Given the description of an element on the screen output the (x, y) to click on. 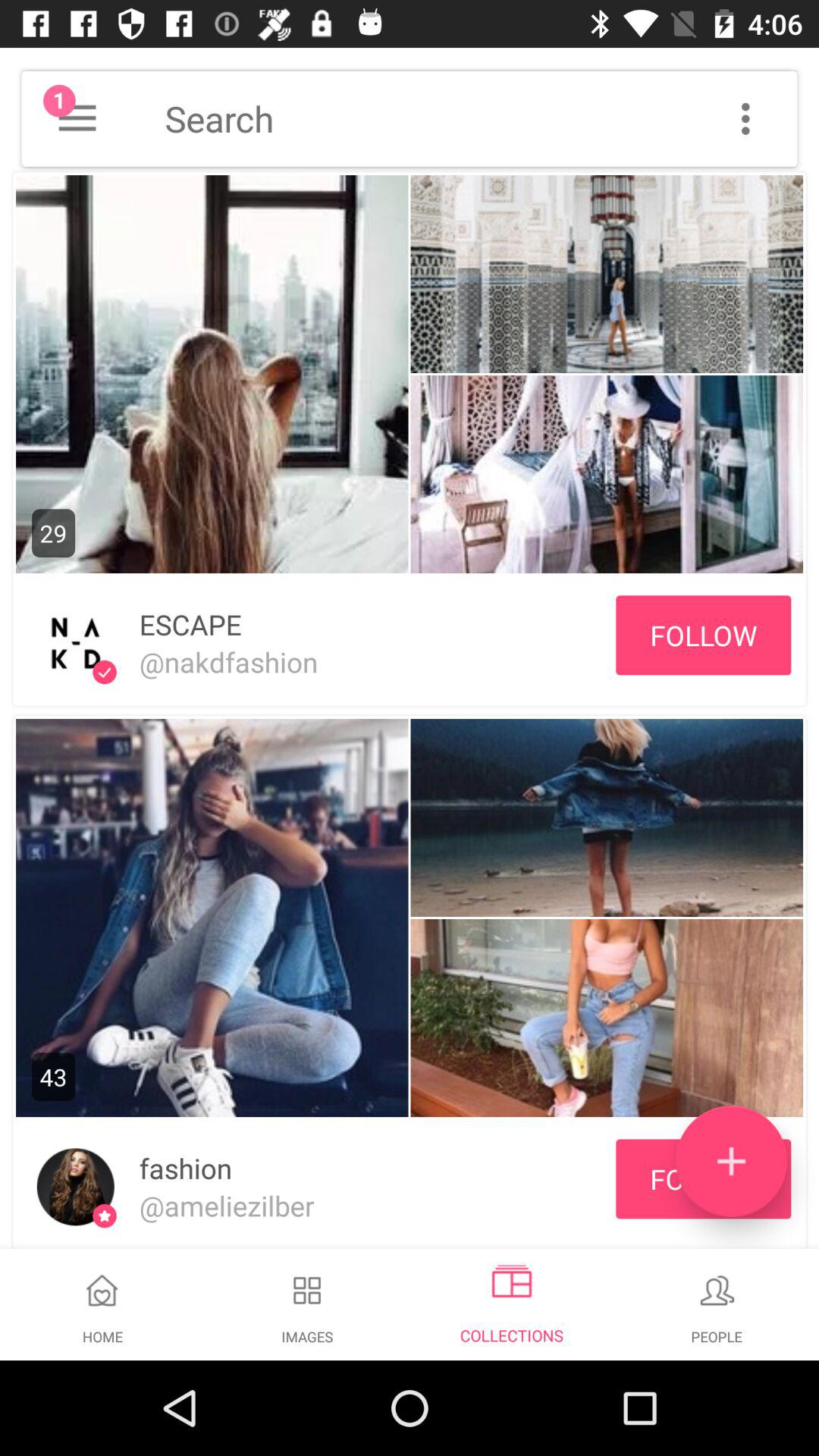
menu (77, 118)
